Given the description of an element on the screen output the (x, y) to click on. 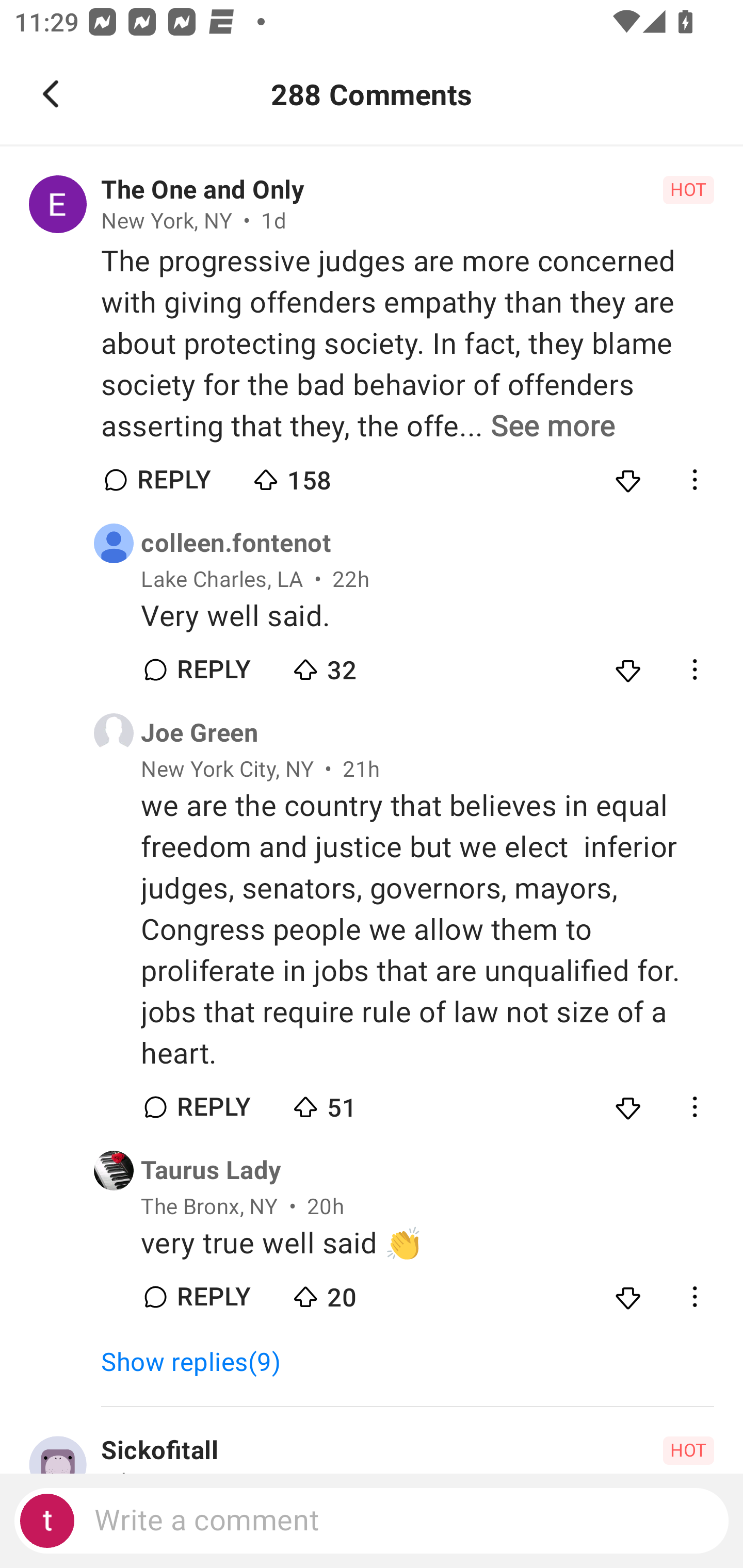
Navigate up (50, 93)
The One and Only (202, 190)
158 (320, 475)
REPLY (173, 480)
colleen.fontenot (236, 543)
Very well said. (427, 615)
32 (360, 665)
REPLY (213, 670)
Joe Green (199, 732)
51 (360, 1102)
REPLY (213, 1107)
Taurus Lady (211, 1170)
very true well said 👏  (427, 1243)
20 (360, 1292)
REPLY (213, 1297)
Show replies(9) (199, 1362)
Sickofitall (159, 1451)
Write a comment (371, 1520)
